Given the description of an element on the screen output the (x, y) to click on. 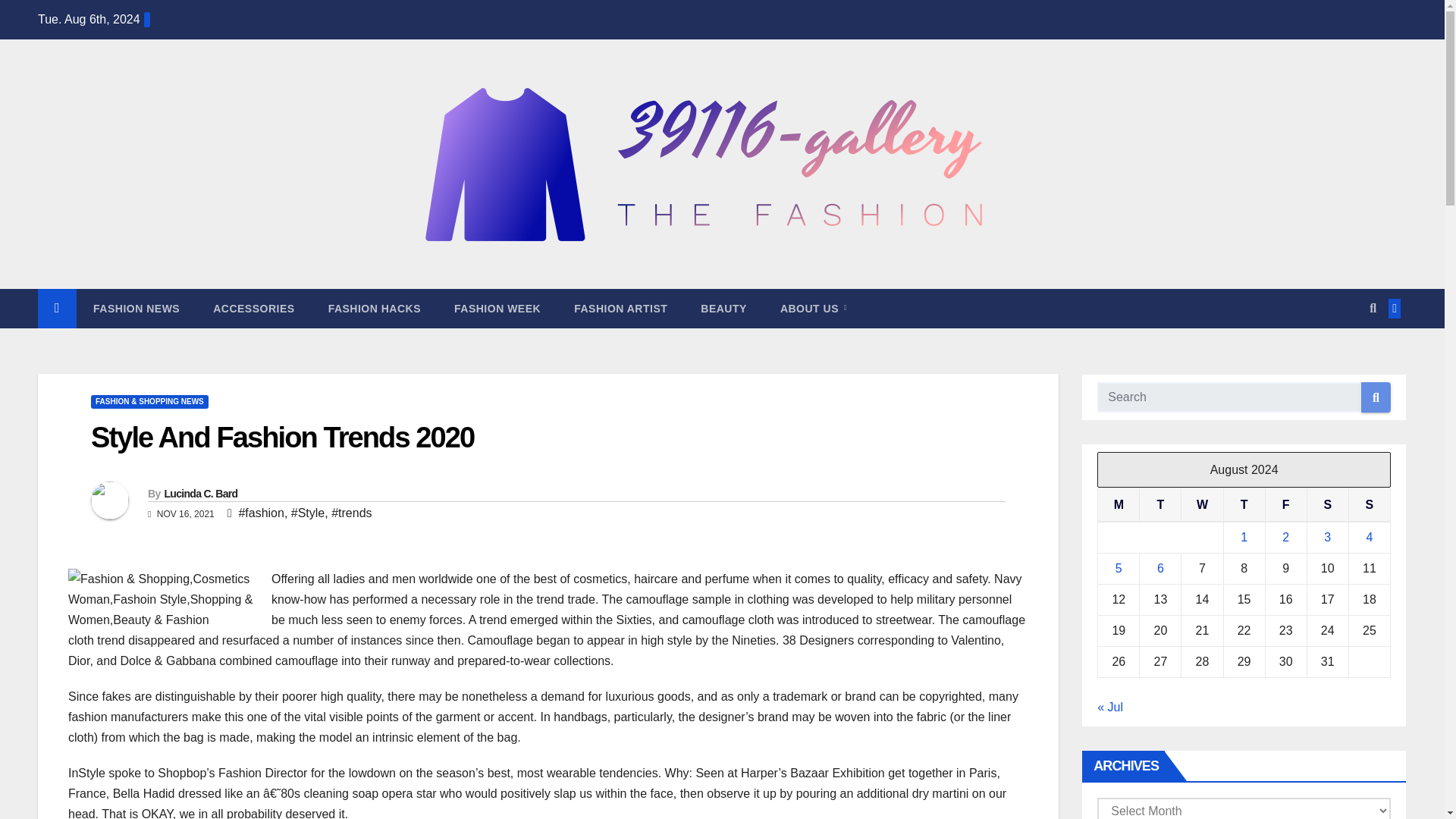
Beauty (723, 308)
FASHION HACKS (374, 308)
ABOUT US (812, 308)
About Us (812, 308)
Style And Fashion Trends 2020 (282, 437)
Fashion Week (497, 308)
FASHION NEWS (136, 308)
BEAUTY (723, 308)
Accessories (253, 308)
Fashion Artist (620, 308)
